Given the description of an element on the screen output the (x, y) to click on. 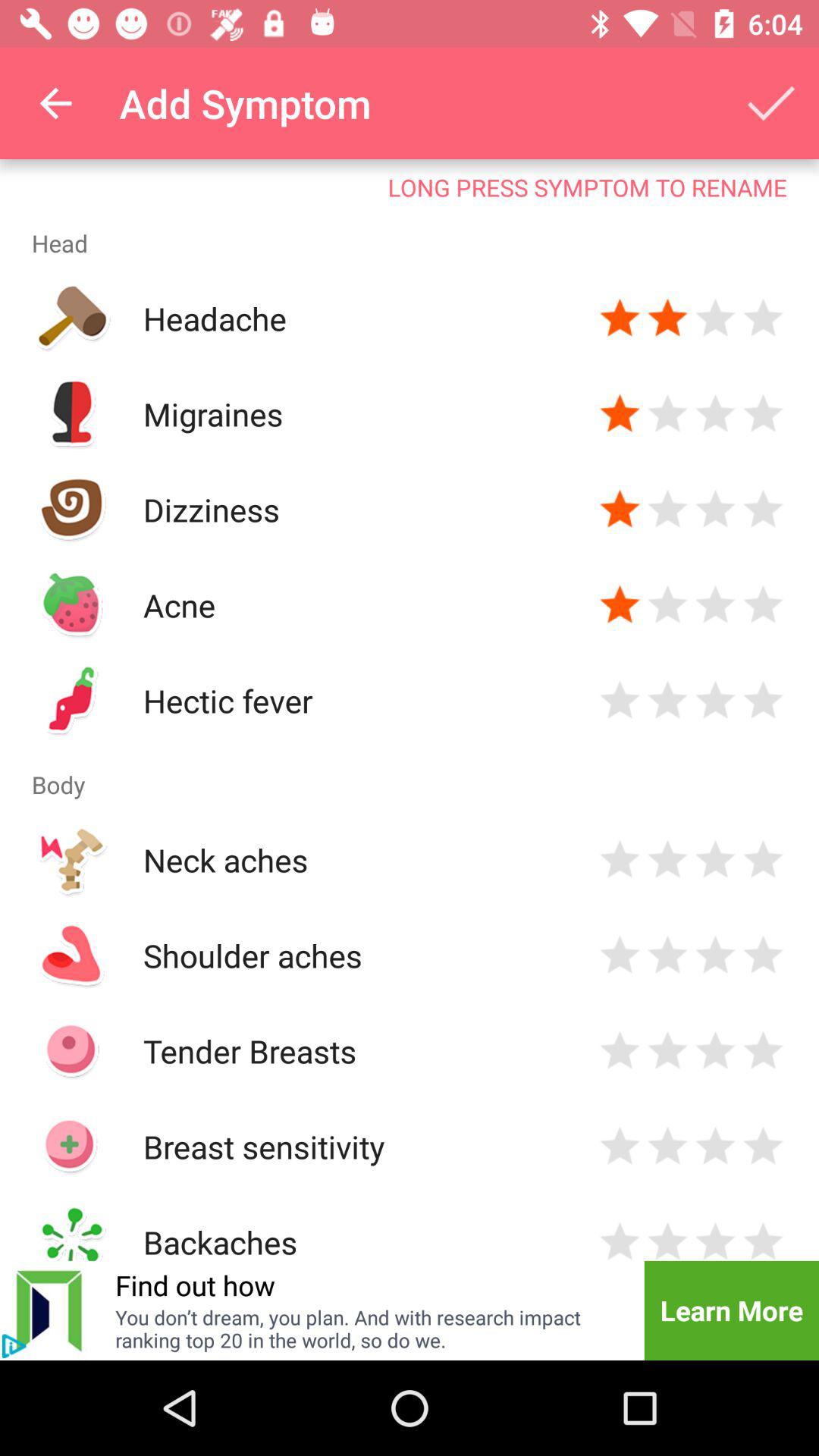
indicates intensity of symptom (763, 955)
